Given the description of an element on the screen output the (x, y) to click on. 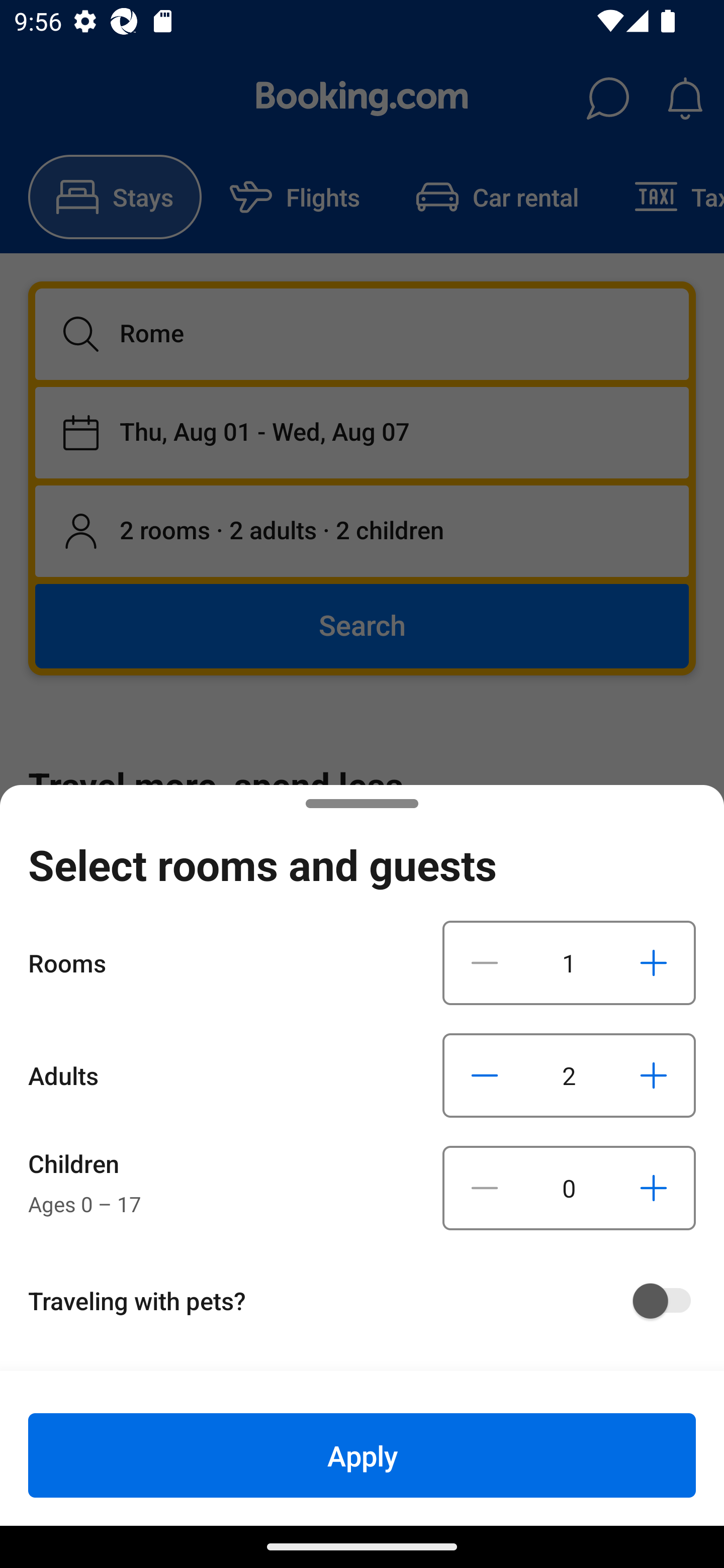
Decrease (484, 962)
Increase (653, 962)
Decrease (484, 1075)
Increase (653, 1075)
Decrease (484, 1188)
Increase (653, 1188)
Traveling with pets? (369, 1300)
Apply (361, 1454)
